Given the description of an element on the screen output the (x, y) to click on. 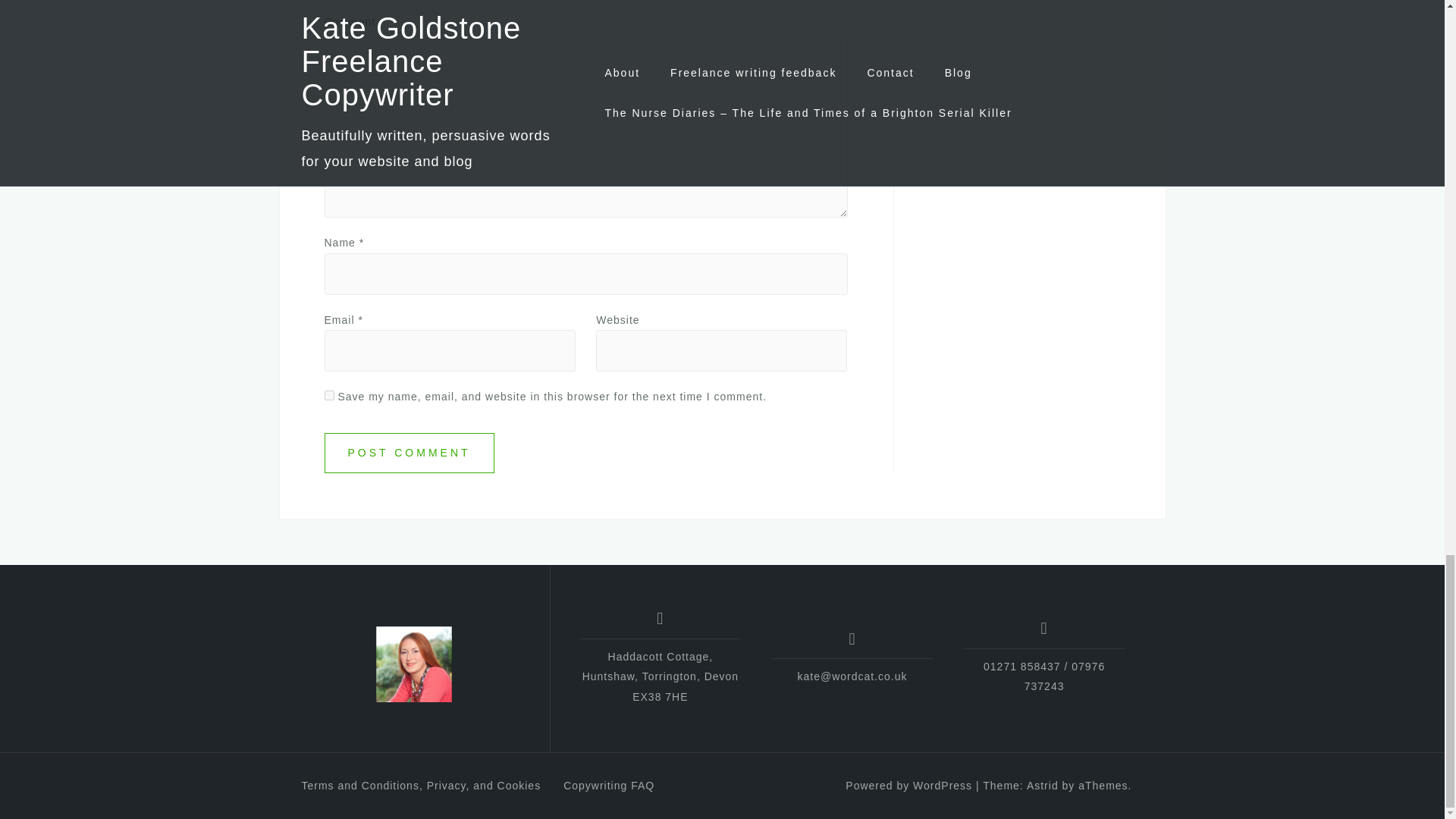
yes (329, 395)
Terms and Conditions, Privacy, and Cookies (421, 785)
Post Comment (409, 453)
Post Comment (409, 453)
Kate Goldstone Freelance Copywriter (413, 663)
